Given the description of an element on the screen output the (x, y) to click on. 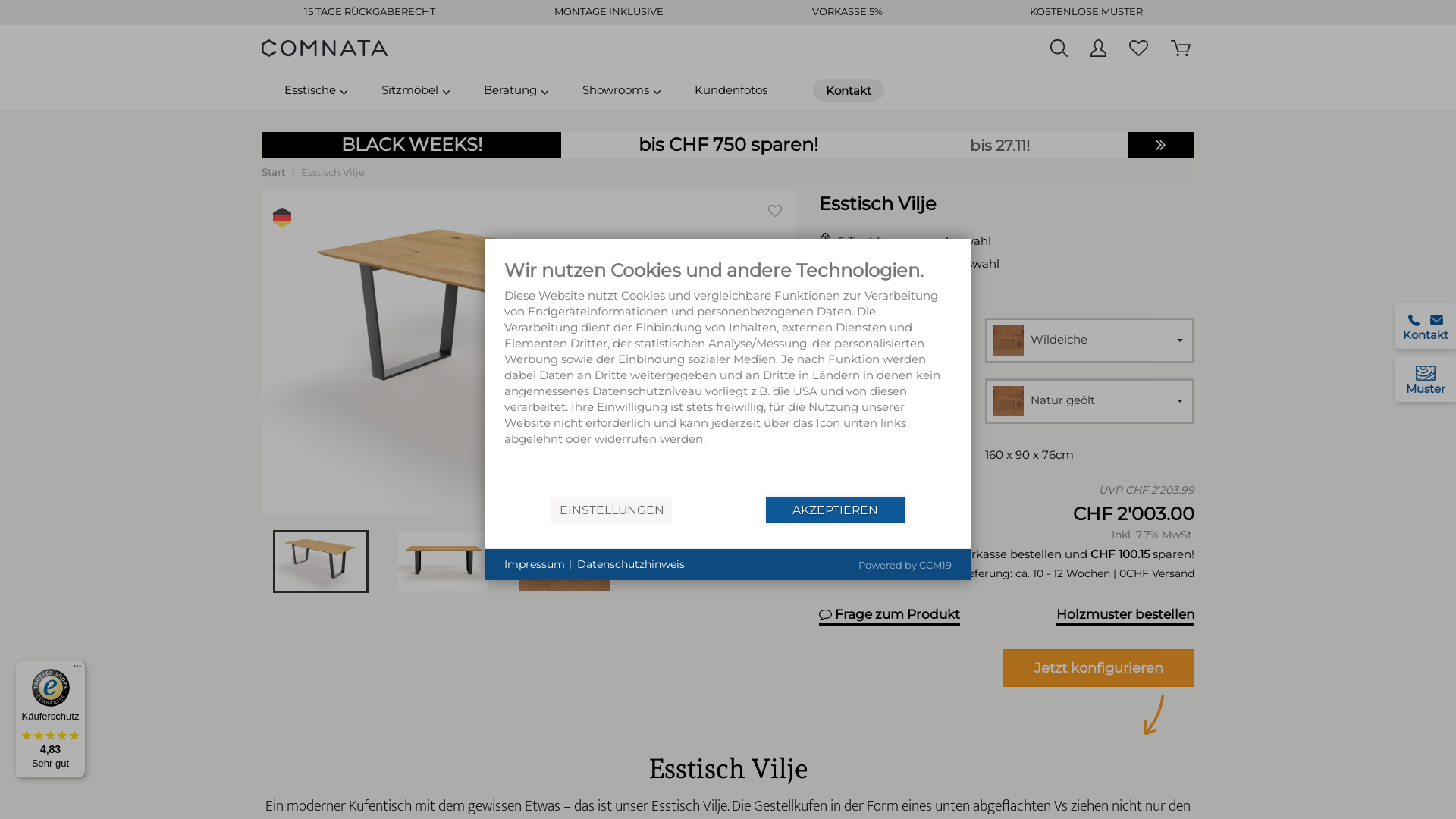
Start Element type: text (273, 172)
Impressum Element type: text (534, 564)
Esstische Element type: text (309, 90)
Comnata Esstisch Element type: hover (324, 47)
AKZEPTIEREN Element type: text (834, 509)
Jetzt konfigurieren Element type: text (1098, 668)
Datenschutzhinweis Element type: text (630, 564)
Powered by CCM19 Element type: text (904, 564)
Frage zum Produkt Element type: text (889, 613)
Wildeiche
  Element type: text (1089, 340)
Kundenfotos Element type: text (730, 90)
Beratung Element type: text (510, 90)
BLACK WEEKS!
bis CHF 750 sparen!
bis 27.11! Element type: text (728, 144)
Showrooms Element type: text (615, 90)
EINSTELLUNGEN Element type: text (611, 509)
Holzmuster bestellen Element type: text (1125, 613)
